Given the description of an element on the screen output the (x, y) to click on. 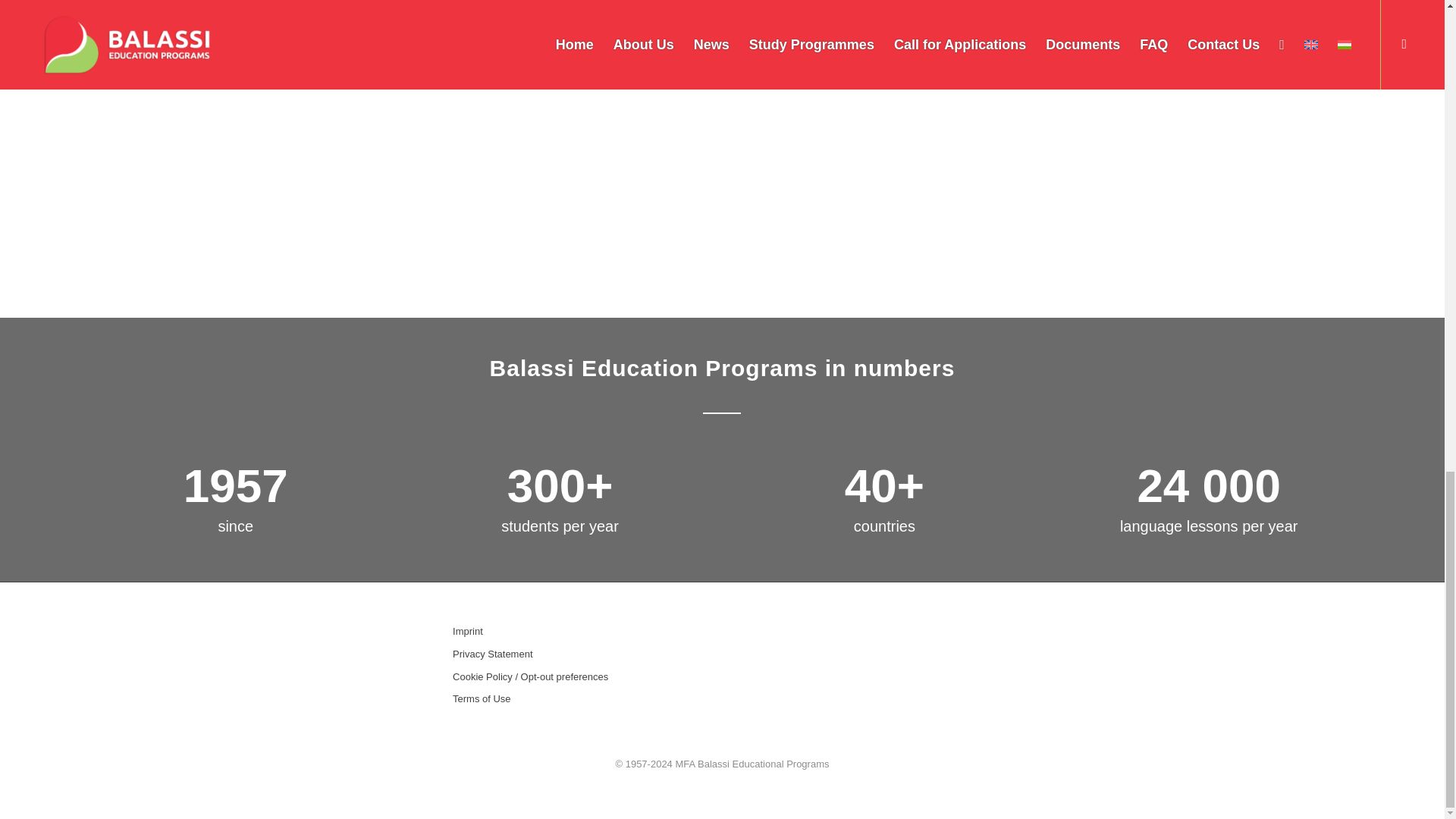
Privacy Statement (550, 653)
Terms of Use (550, 698)
Imprint (550, 630)
